Given the description of an element on the screen output the (x, y) to click on. 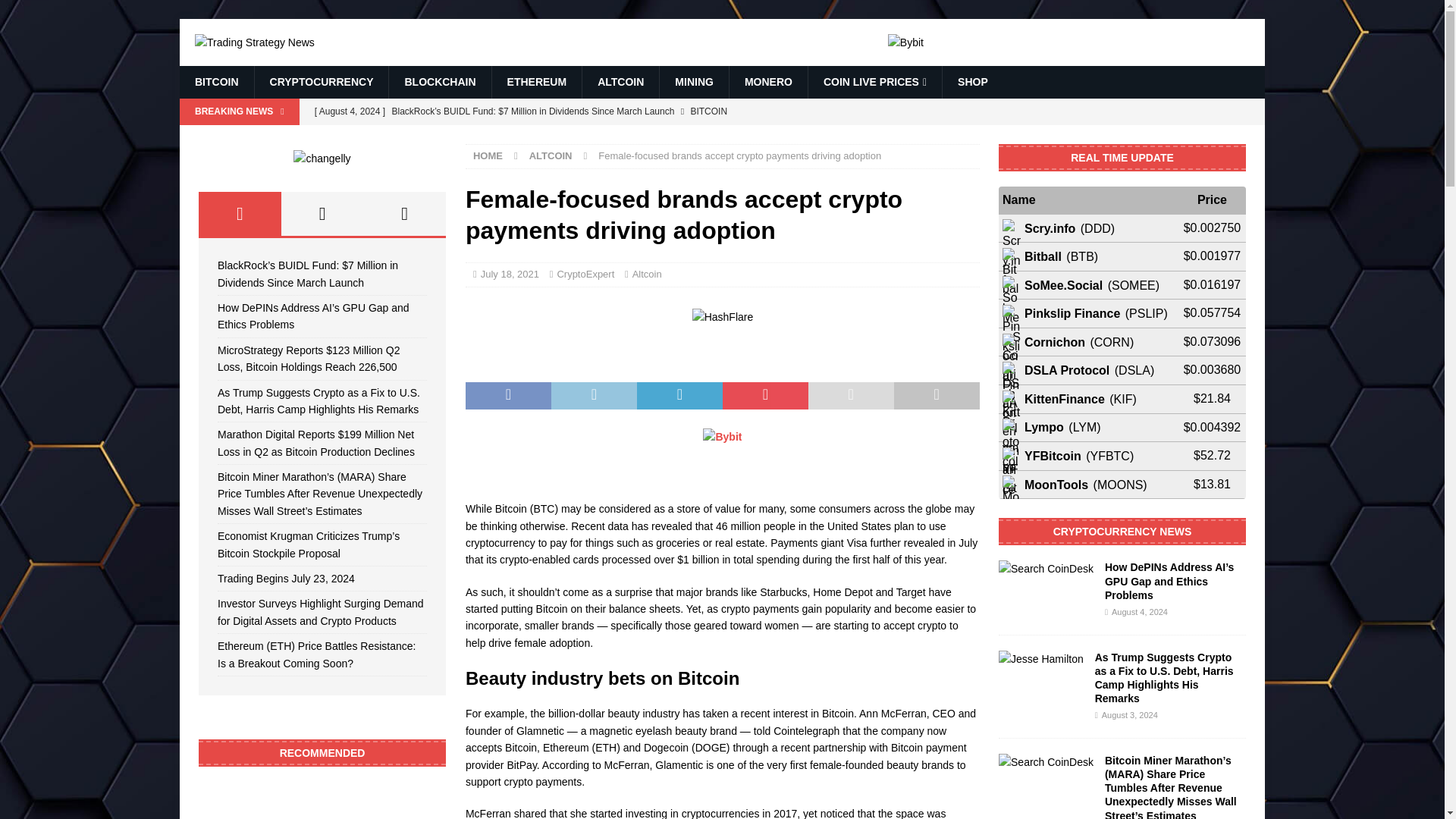
BLOCKCHAIN (439, 81)
SHOP (972, 81)
MONERO (768, 81)
CRYPTOCURRENCY (320, 81)
ALTCOIN (619, 81)
BITCOIN (216, 81)
MINING (694, 81)
COIN LIVE PRICES (875, 81)
ETHEREUM (537, 81)
